Given the description of an element on the screen output the (x, y) to click on. 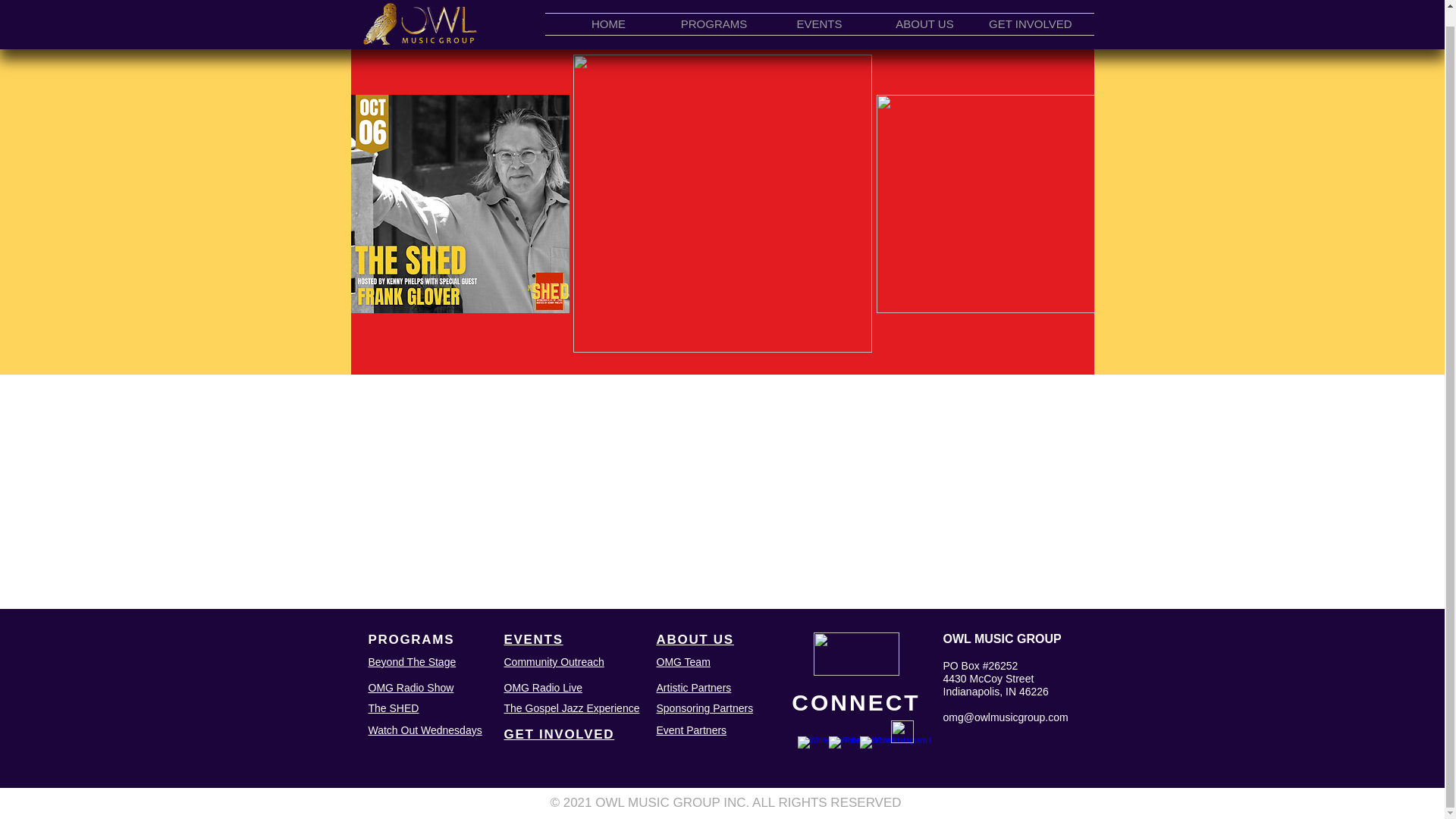
Frank Glover.png (459, 203)
The SHED (393, 707)
GET INVOLVED (1029, 9)
Community Outreach (553, 662)
OMG Radio Show (411, 687)
ABOUT US (694, 639)
GET INVOLVED (558, 734)
HOME (608, 9)
OMG Team (683, 662)
OMG Radio Live (541, 687)
